Given the description of an element on the screen output the (x, y) to click on. 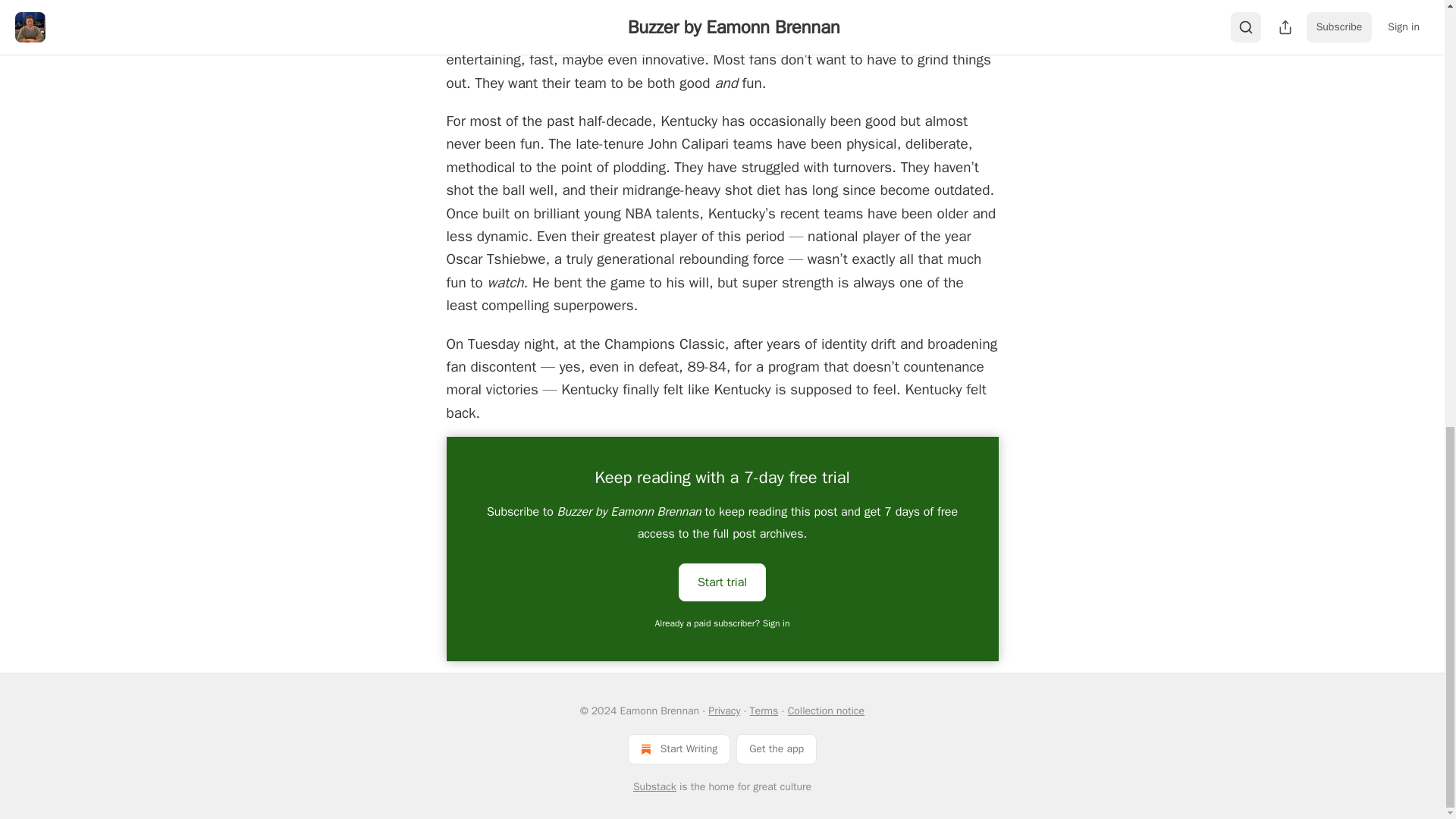
Start trial (721, 581)
Start trial (721, 582)
Terms (763, 710)
Already a paid subscriber? Sign in (722, 623)
Start Writing (678, 748)
Get the app (776, 748)
Privacy (723, 710)
Substack (655, 786)
Collection notice (825, 710)
